Given the description of an element on the screen output the (x, y) to click on. 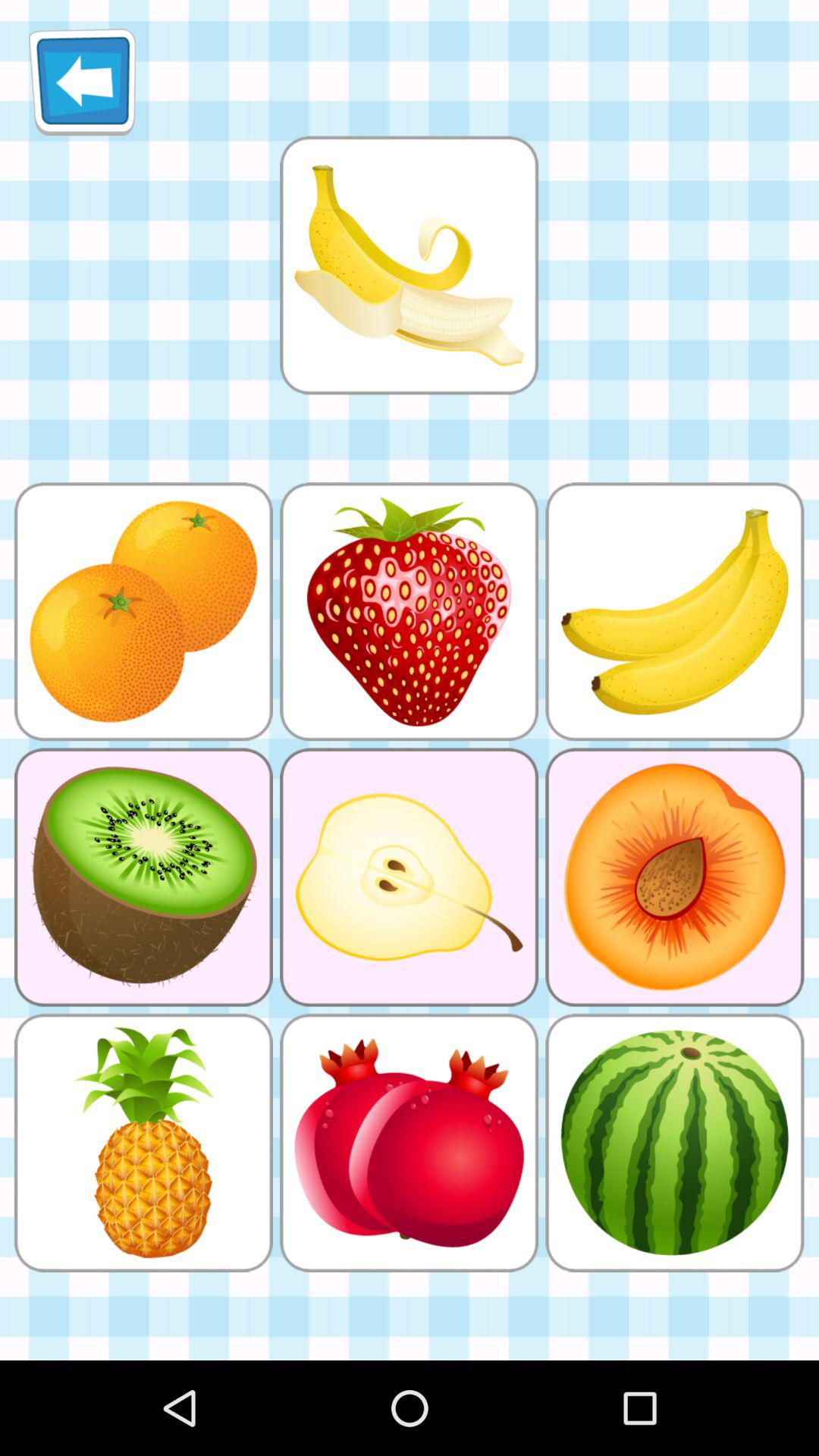
select picture (409, 265)
